Given the description of an element on the screen output the (x, y) to click on. 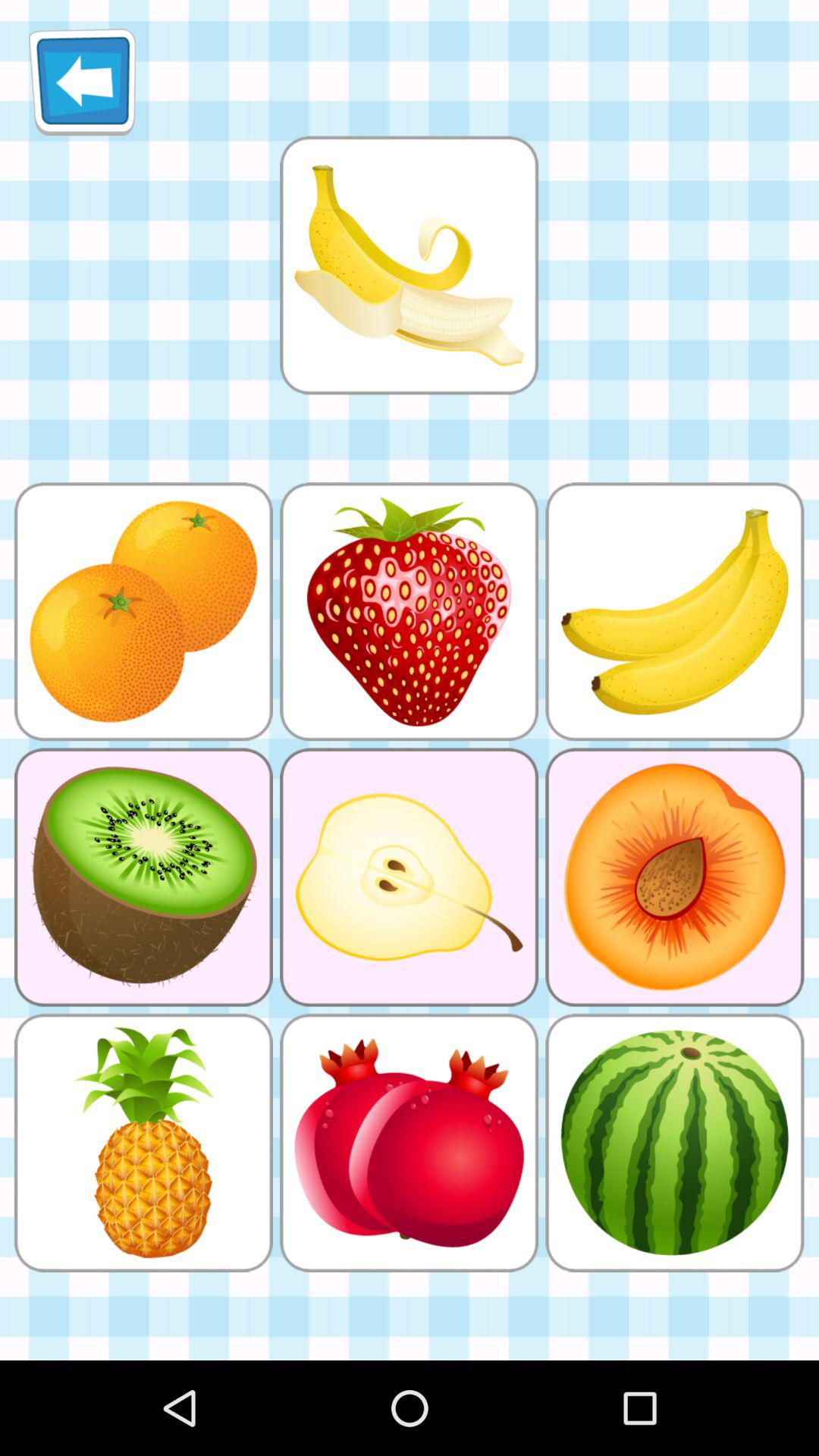
select picture (409, 265)
